Given the description of an element on the screen output the (x, y) to click on. 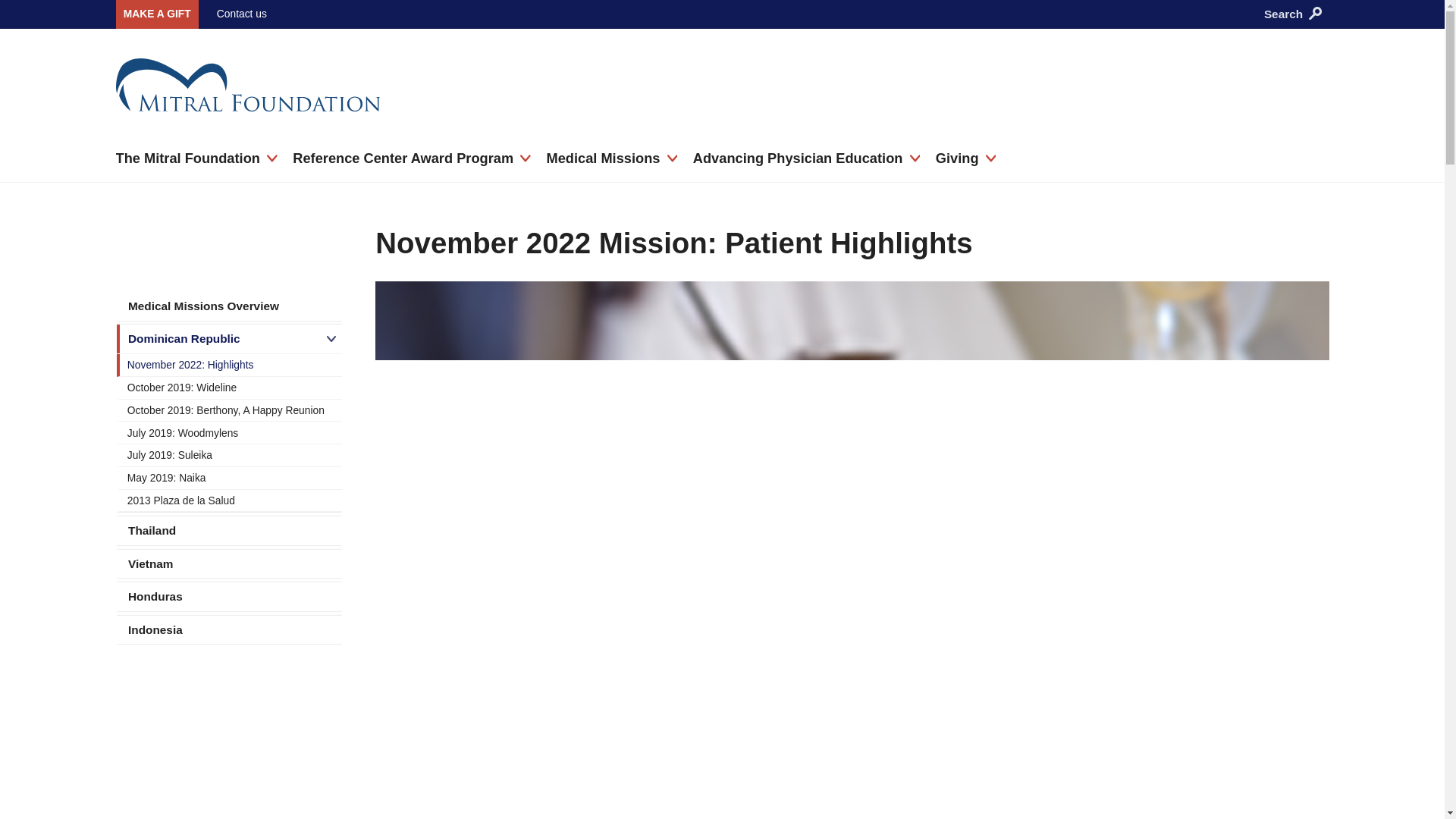
The Mitral Foundation (195, 159)
Search (1315, 12)
MAKE A GIFT (156, 14)
Search (1173, 108)
Contact us (241, 13)
Medical Missions (611, 159)
Advancing Physician Education (806, 159)
Reference Center Award Program (411, 159)
Giving (965, 159)
